Given the description of an element on the screen output the (x, y) to click on. 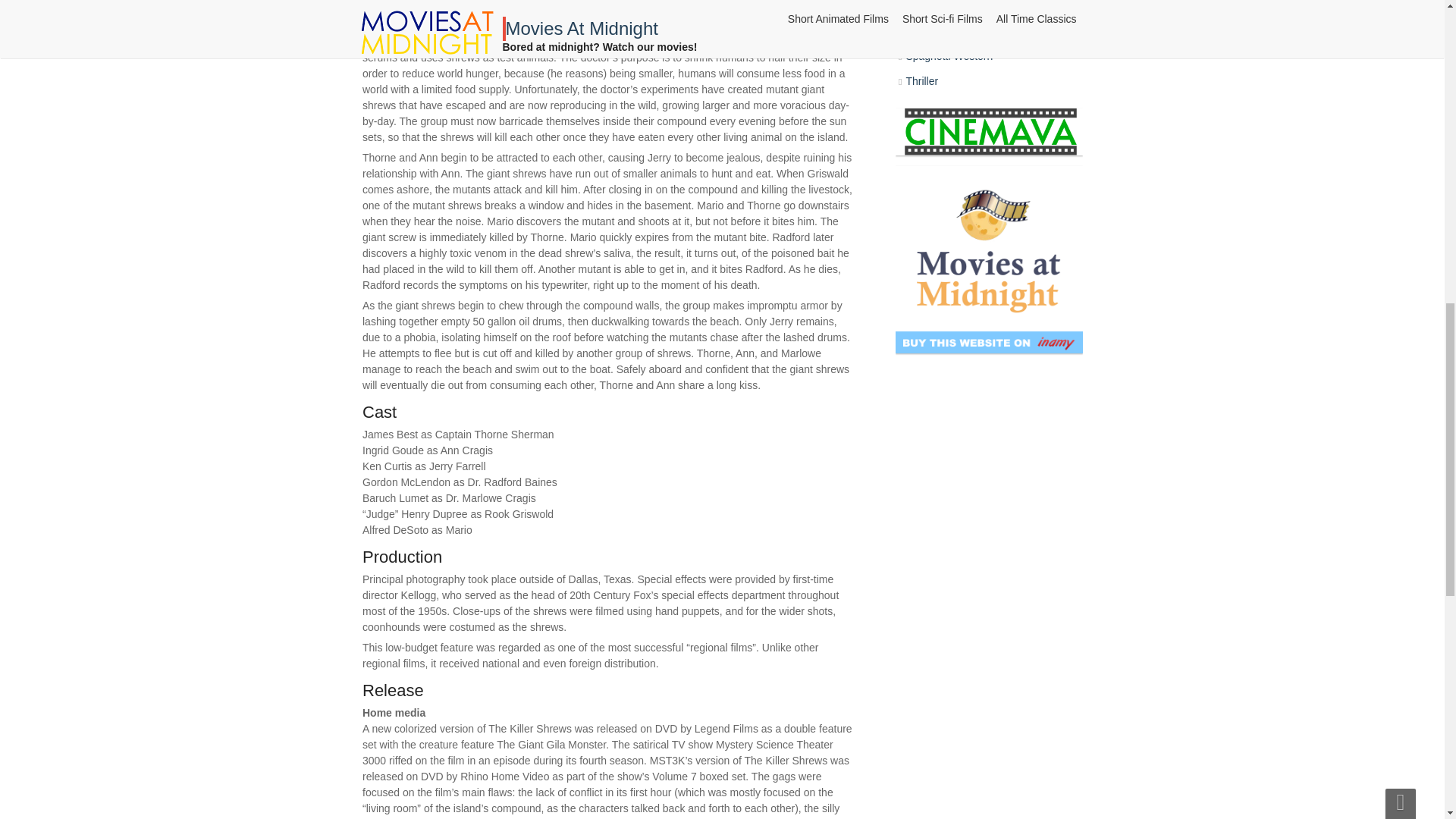
Black and white (566, 473)
MaM (602, 548)
Horror (574, 493)
Sci-fi (583, 514)
No Comments (646, 571)
